Given the description of an element on the screen output the (x, y) to click on. 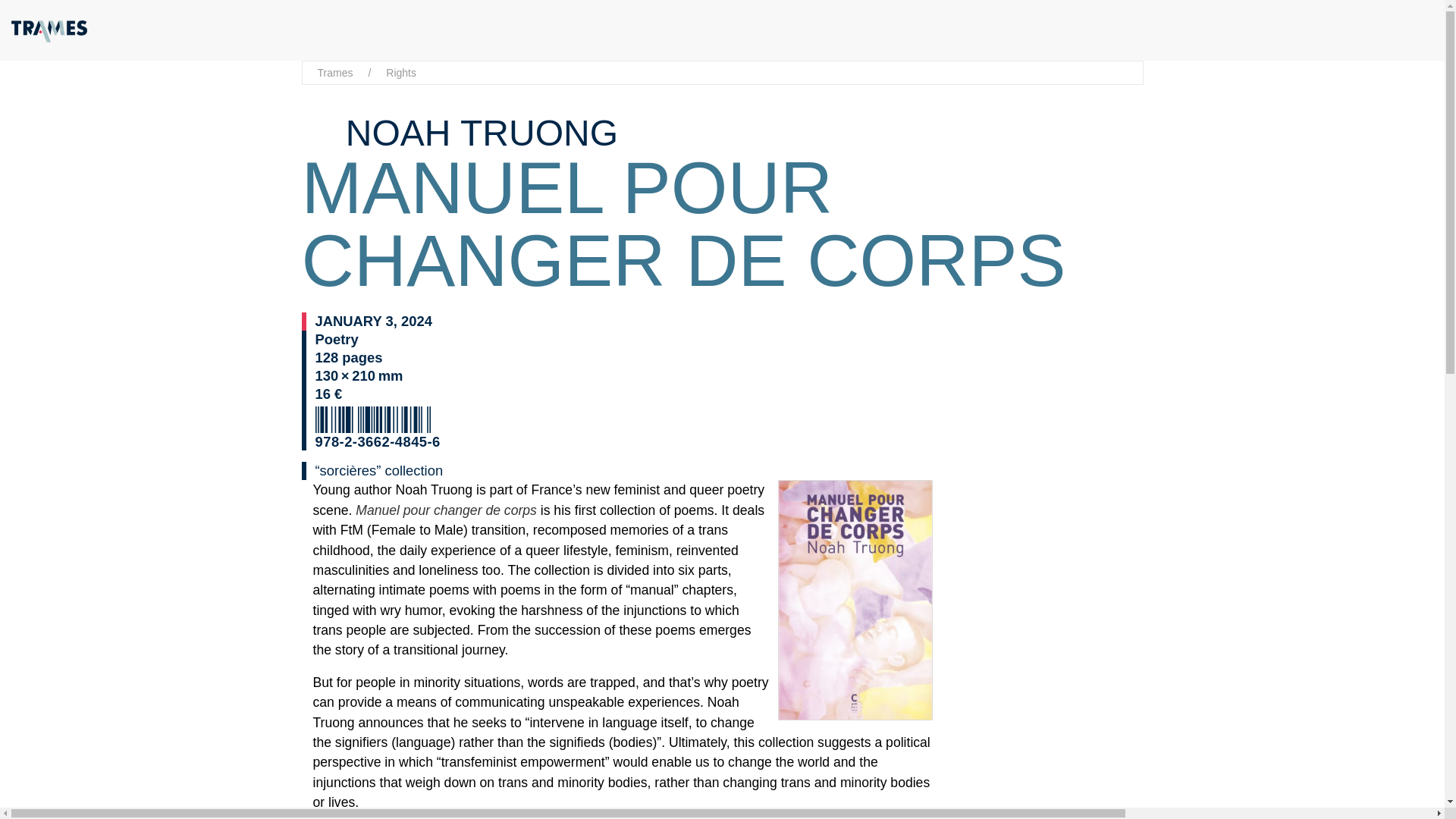
NOAH TRUONG (475, 133)
Trames (334, 73)
Rights (400, 73)
